Given the description of an element on the screen output the (x, y) to click on. 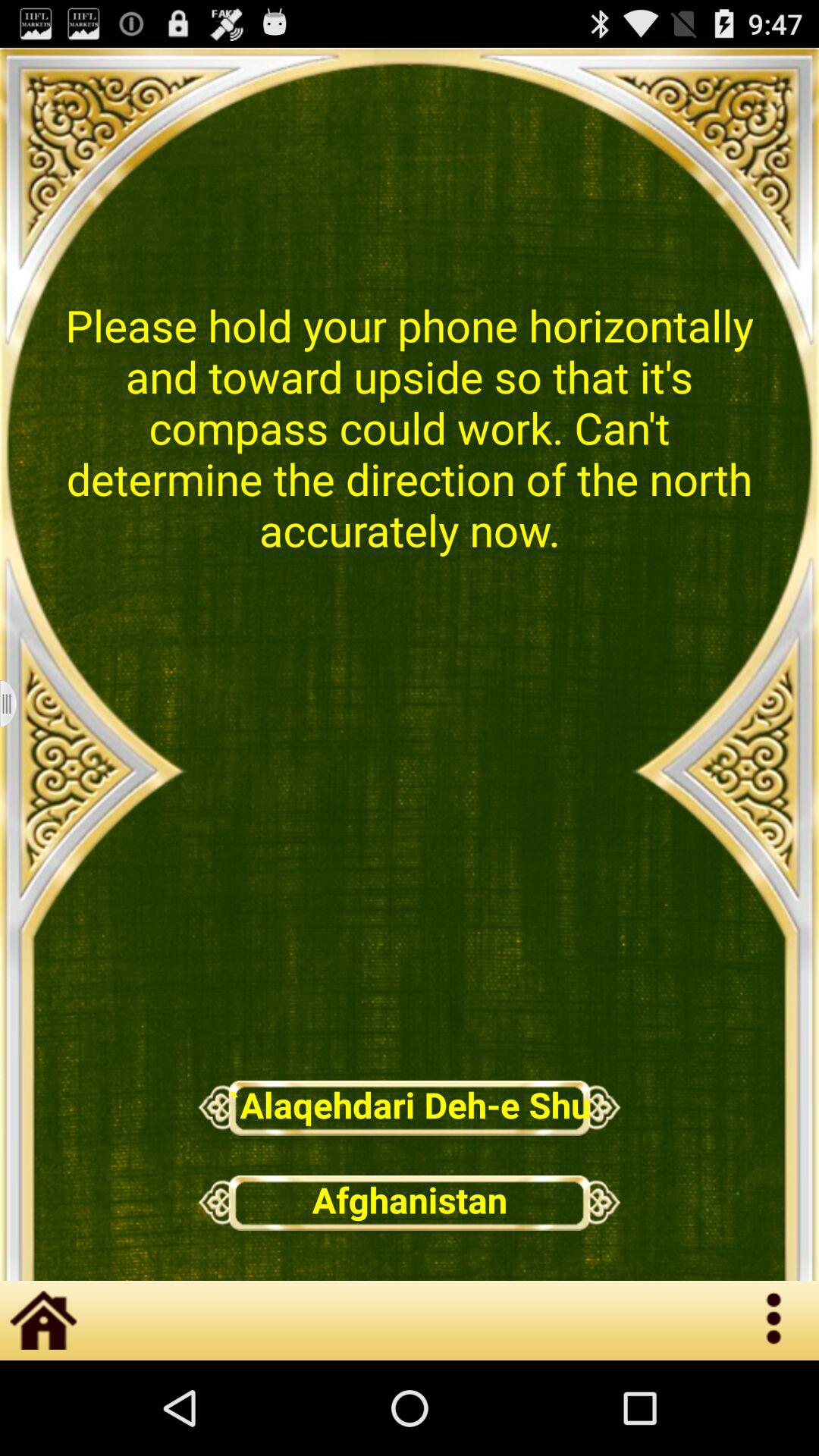
roiling page (18, 703)
